Given the description of an element on the screen output the (x, y) to click on. 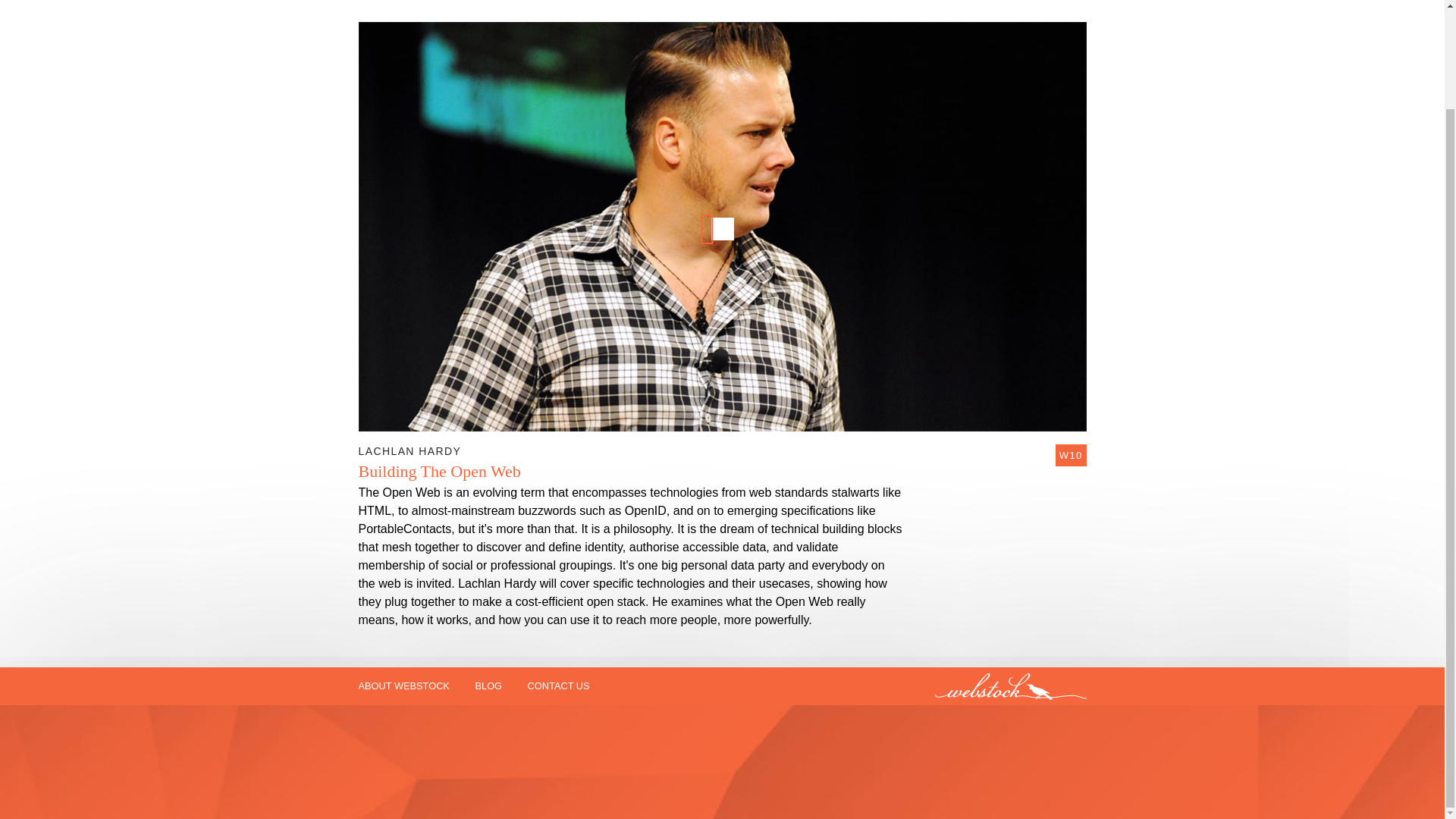
Webstock 10 (1070, 455)
LACHLAN HARDY (409, 451)
W10 (1070, 455)
ABOUT WEBSTOCK (403, 686)
Building The Open Web (438, 471)
CONTACT US (558, 686)
